Given the description of an element on the screen output the (x, y) to click on. 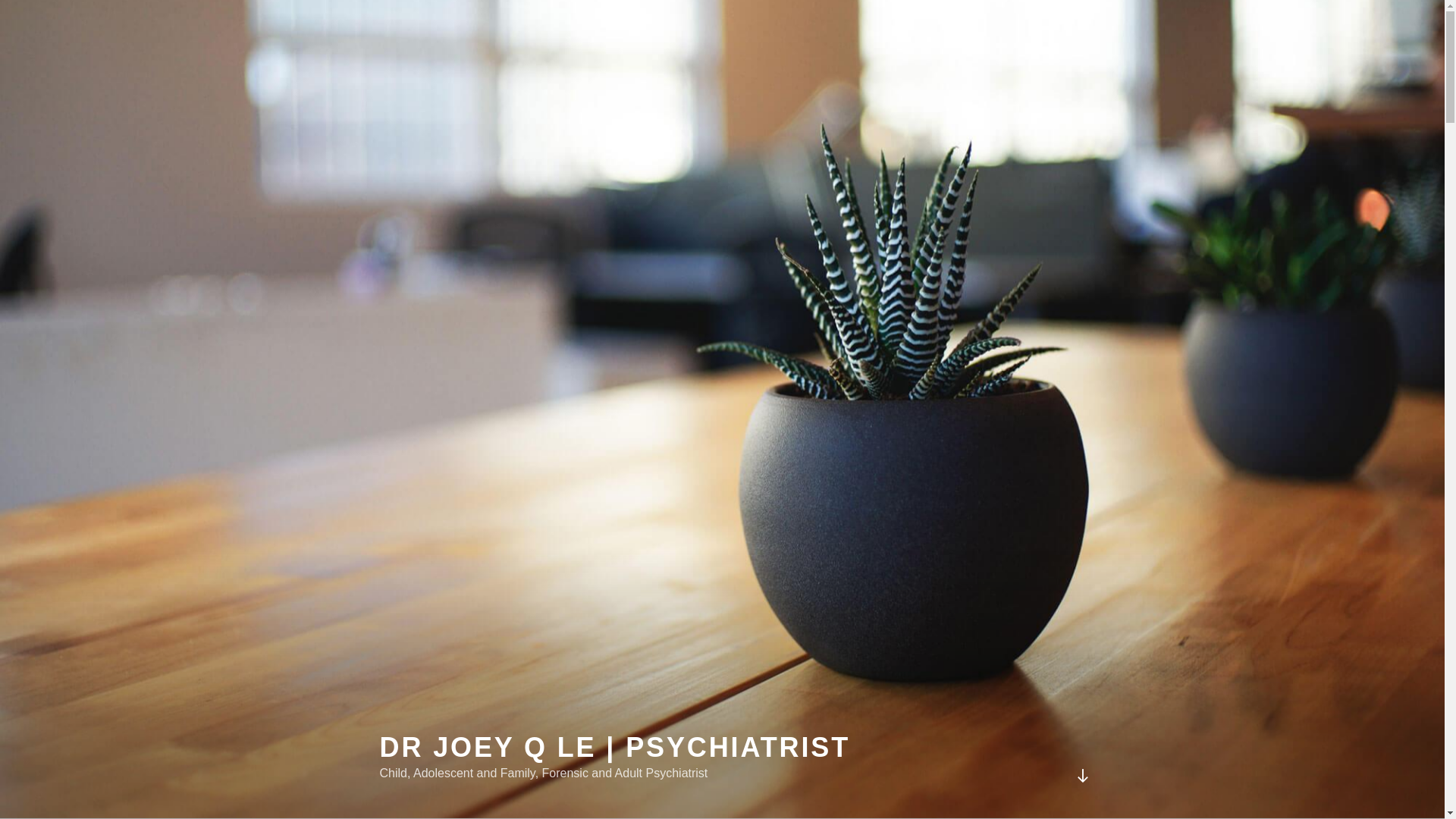
Scroll down to content Element type: text (1082, 775)
DR JOEY Q LE | PSYCHIATRIST Element type: text (614, 746)
